Given the description of an element on the screen output the (x, y) to click on. 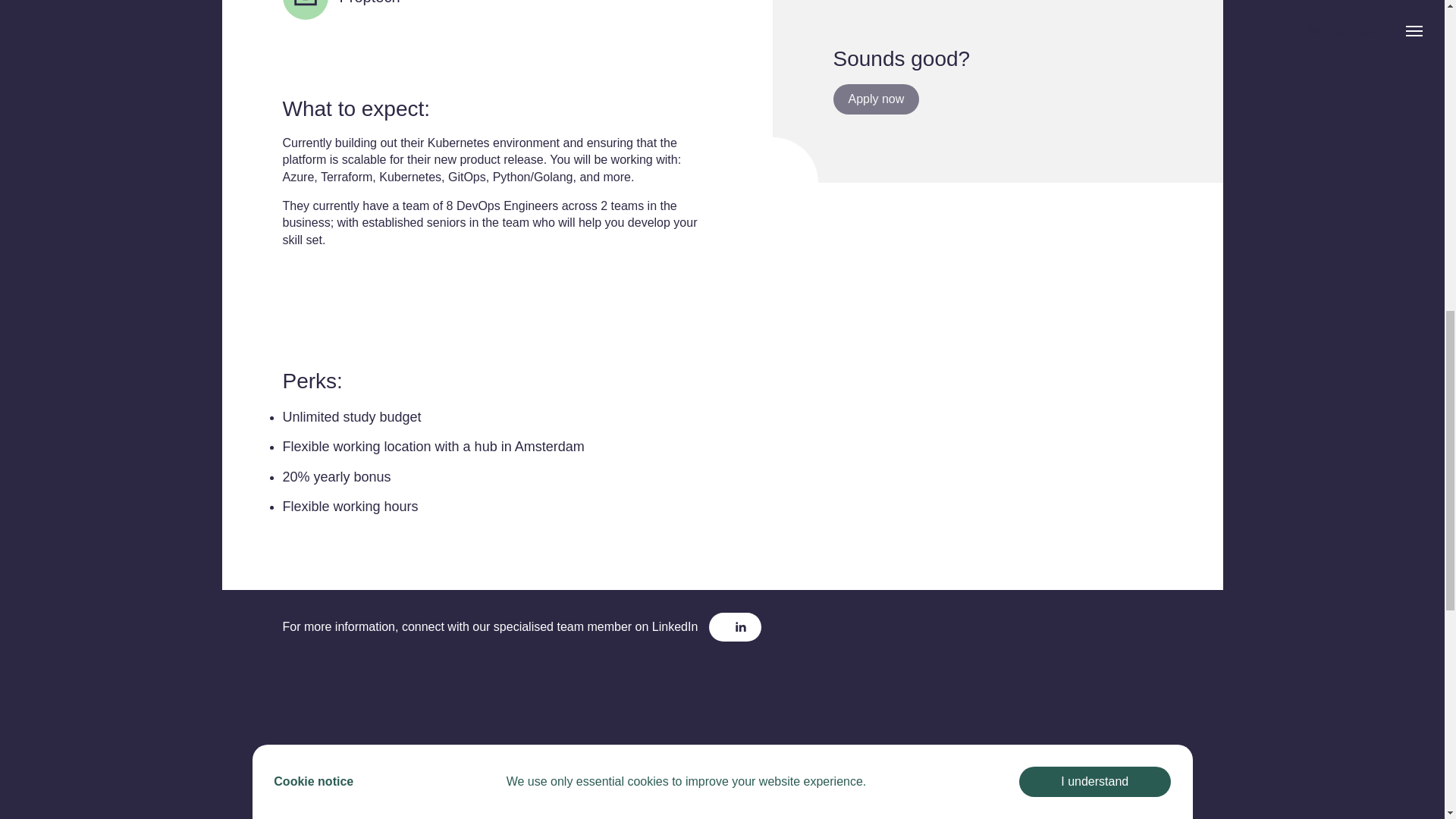
Apply now (875, 99)
